Given the description of an element on the screen output the (x, y) to click on. 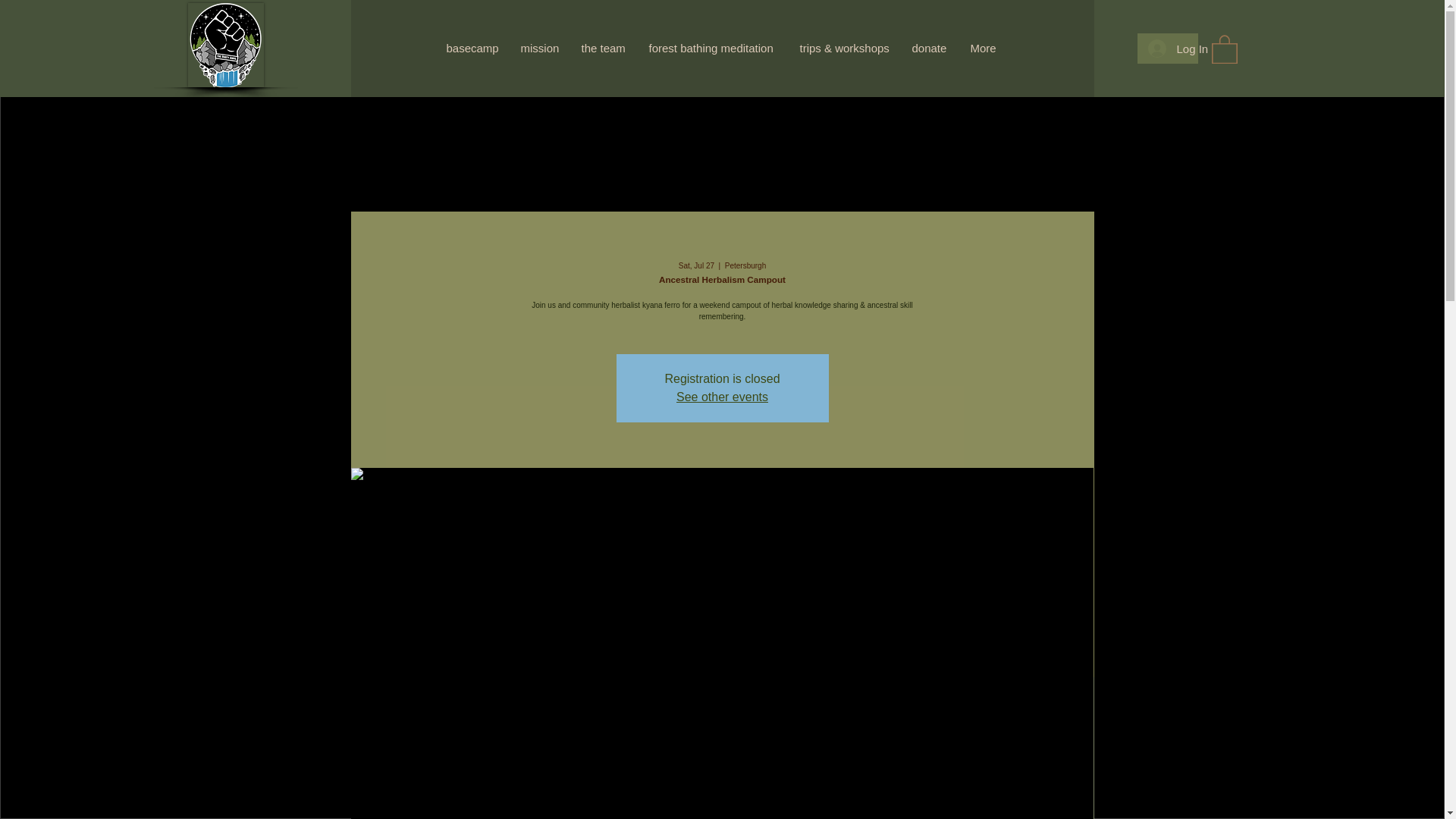
donate (930, 48)
basecamp (472, 48)
forest bathing meditation (712, 48)
See other events (722, 396)
Log In (1167, 48)
the team (603, 48)
mission (539, 48)
